Given the description of an element on the screen output the (x, y) to click on. 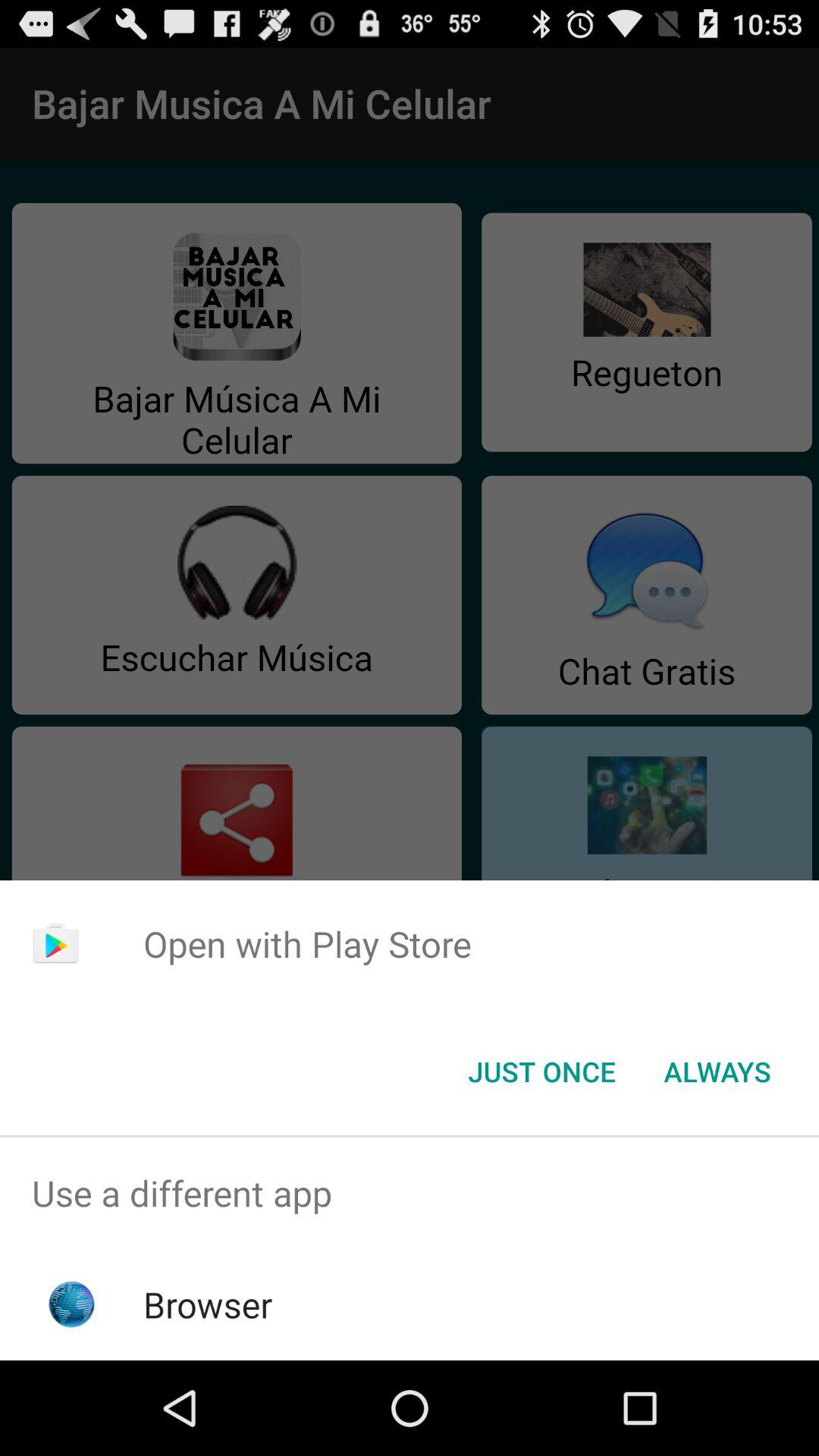
press the icon above browser item (409, 1192)
